Given the description of an element on the screen output the (x, y) to click on. 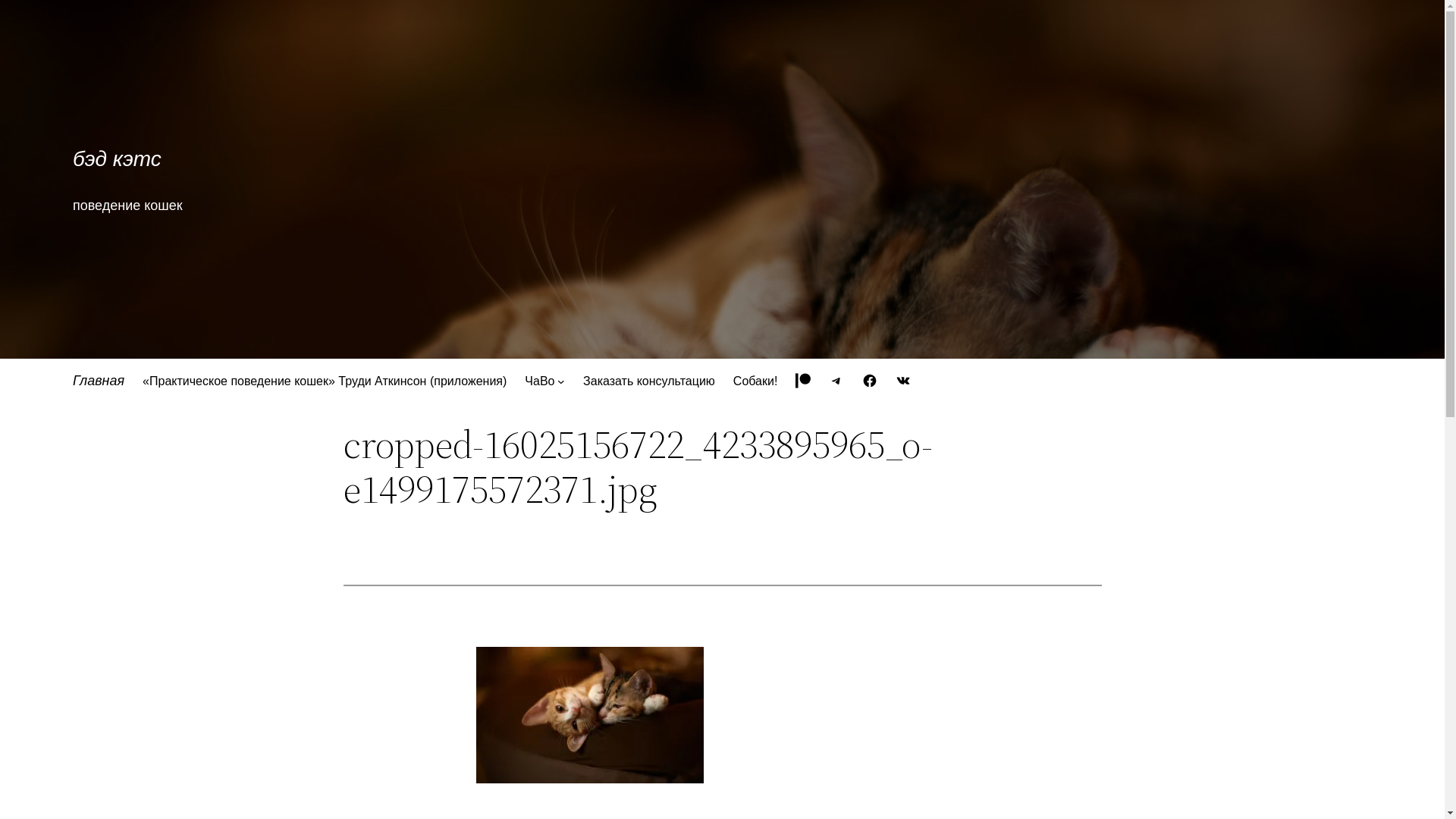
Telegram Element type: text (836, 380)
Facebook Element type: text (869, 380)
VK Element type: text (902, 380)
Patreon Element type: text (802, 380)
